Given the description of an element on the screen output the (x, y) to click on. 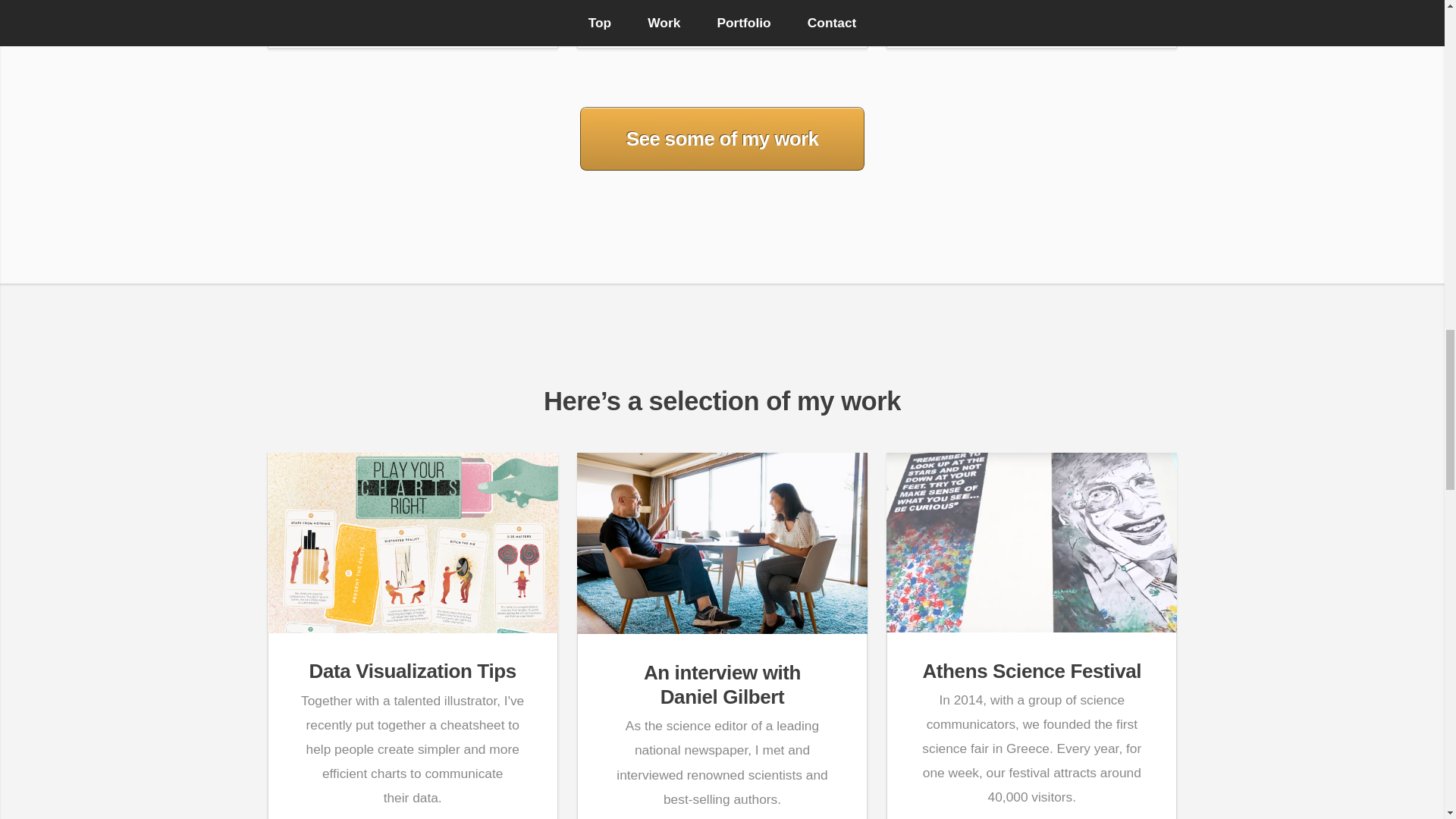
See some of my work (721, 684)
Athens Science Festival (721, 138)
Data Visualization Tips (1031, 671)
See some of my work (412, 671)
